Given the description of an element on the screen output the (x, y) to click on. 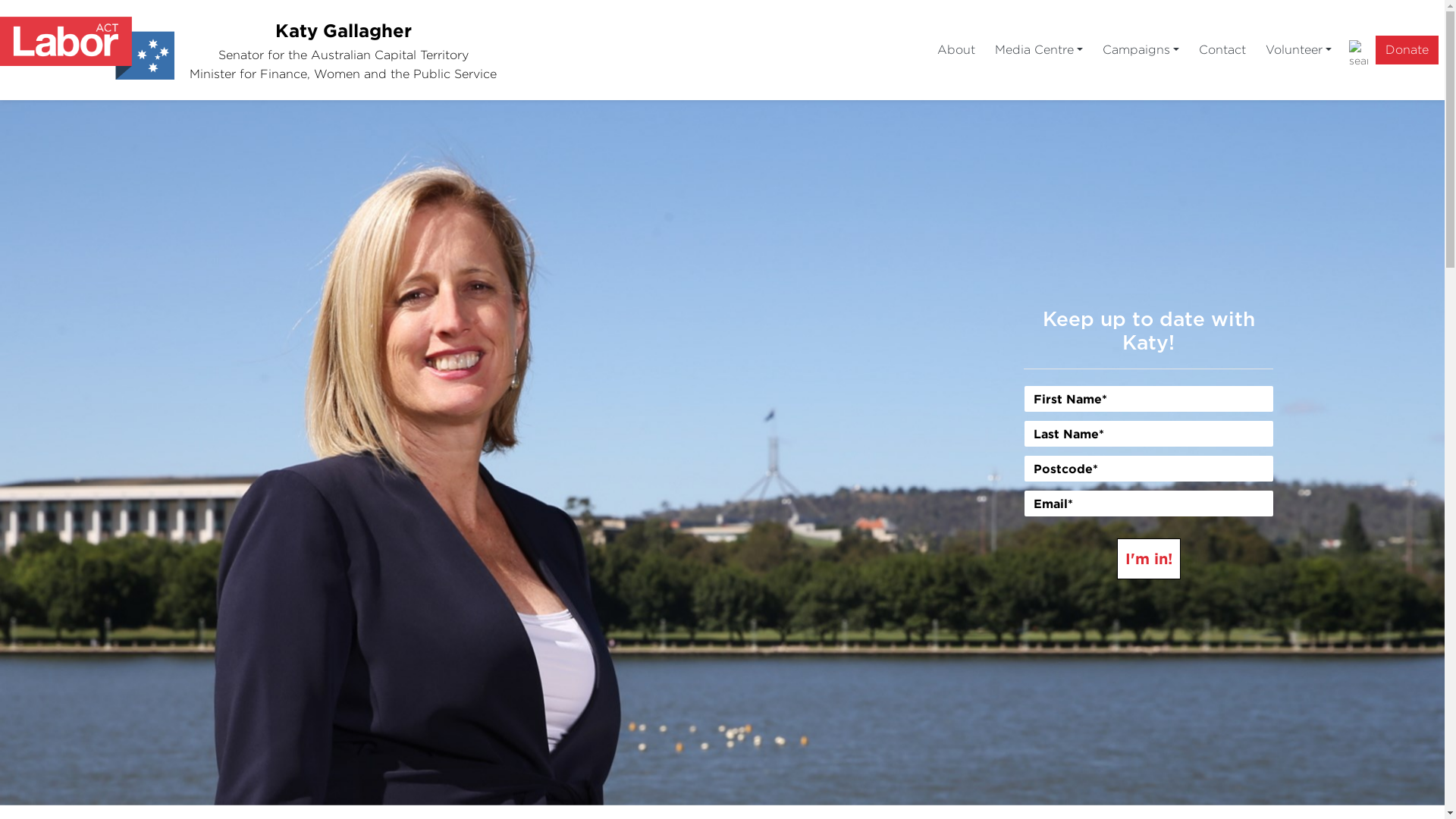
About Element type: text (956, 49)
Contact Element type: text (1222, 49)
Volunteer Element type: text (1298, 49)
Next Element type: text (1335, 452)
Campaigns Element type: text (1140, 49)
Donate Element type: text (1406, 49)
I'm in! Element type: text (1147, 558)
Previous Element type: text (108, 452)
Media Centre Element type: text (1038, 49)
